Given the description of an element on the screen output the (x, y) to click on. 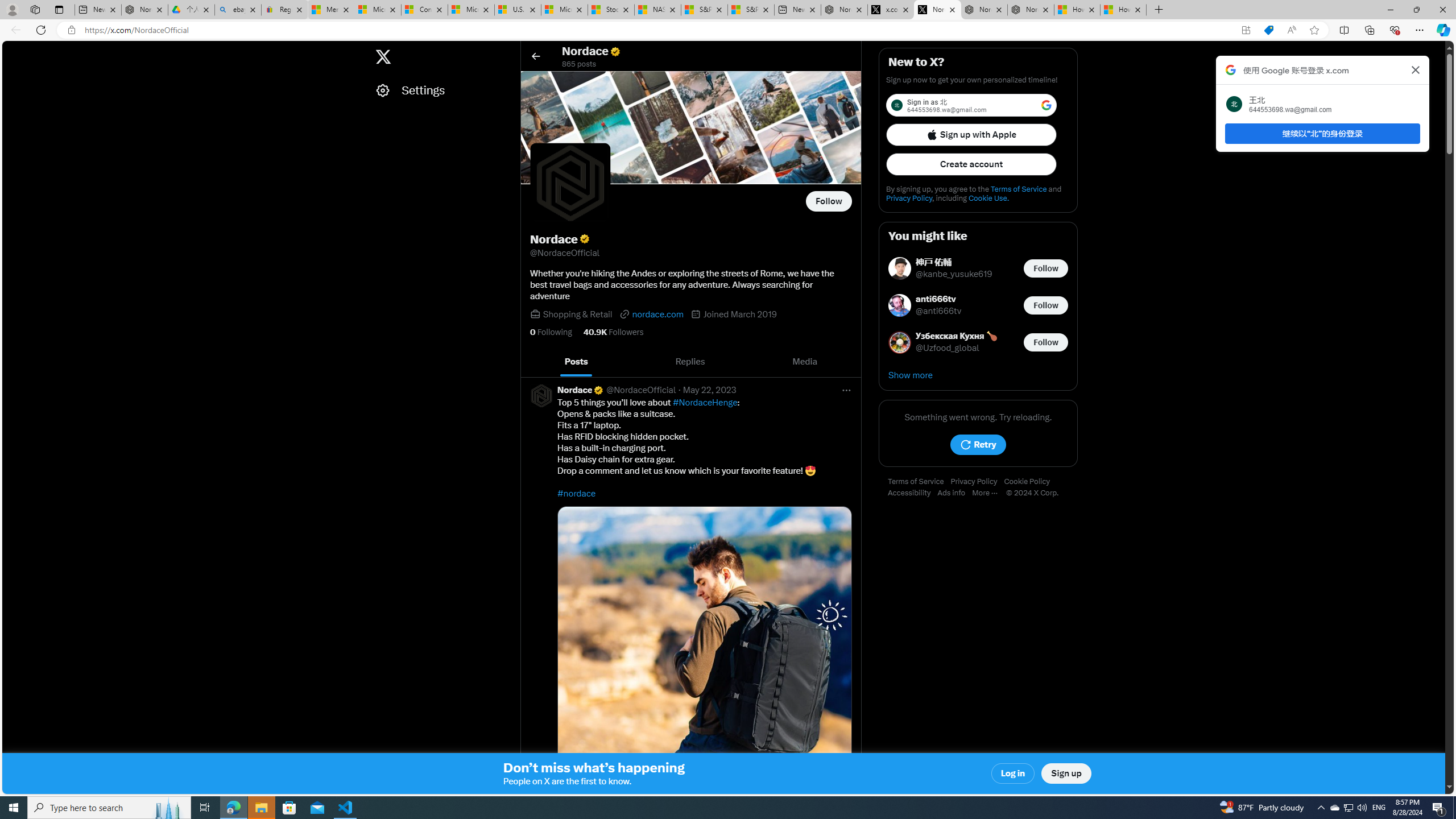
Square profile picture and Opens profile photo (569, 182)
Retry (978, 444)
May 22, 2023 (709, 389)
40.9K Followers (612, 331)
